Given the description of an element on the screen output the (x, y) to click on. 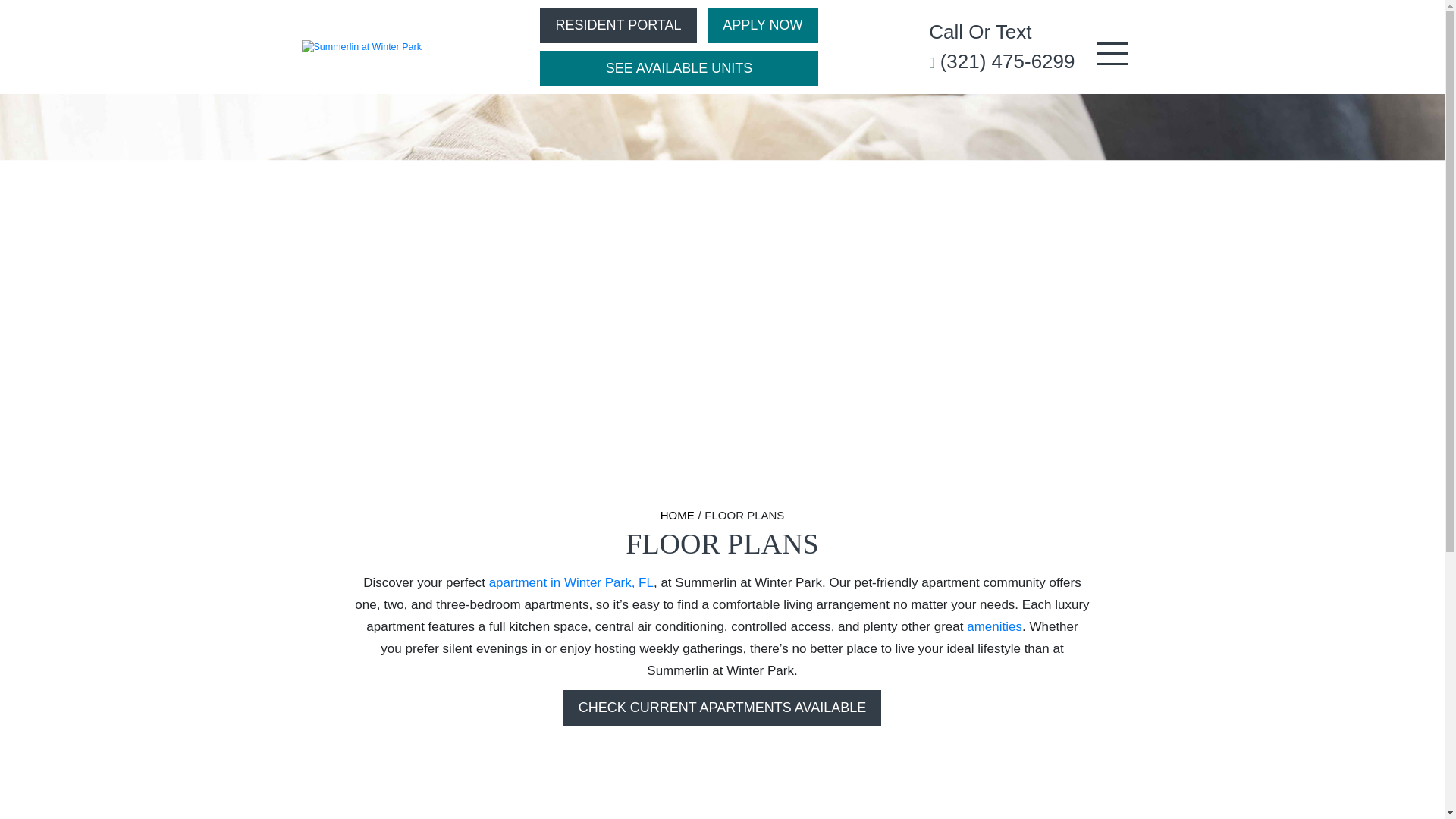
amenities (994, 626)
APPLY NOW (761, 25)
HOME (677, 514)
Apply Now (761, 25)
CHECK CURRENT APARTMENTS AVAILABLE (721, 707)
RESIDENT PORTAL (617, 25)
Resident Services (617, 25)
apartment in Winter Park, FL (571, 582)
SEE AVAILABLE UNITS (678, 68)
Call Us (1001, 46)
